Given the description of an element on the screen output the (x, y) to click on. 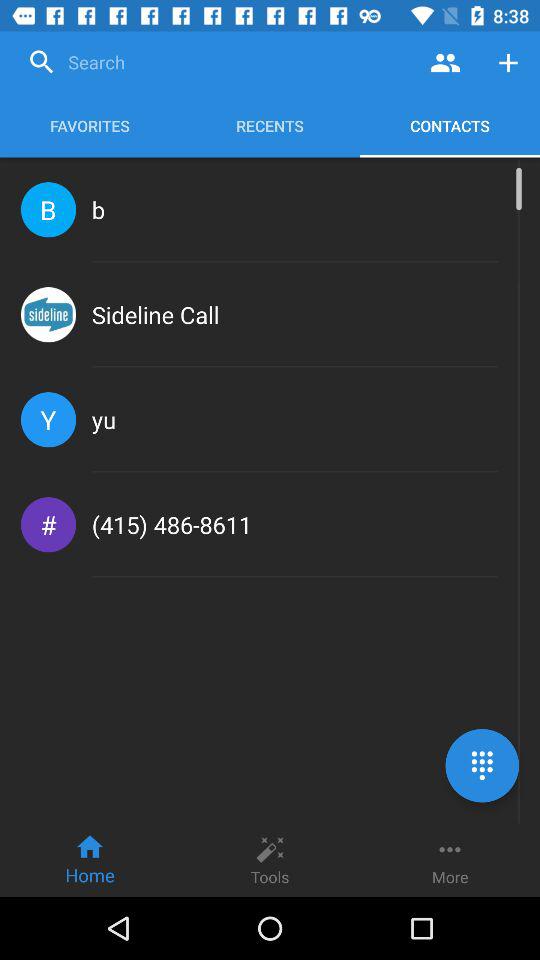
select icon next to yu (48, 419)
